Given the description of an element on the screen output the (x, y) to click on. 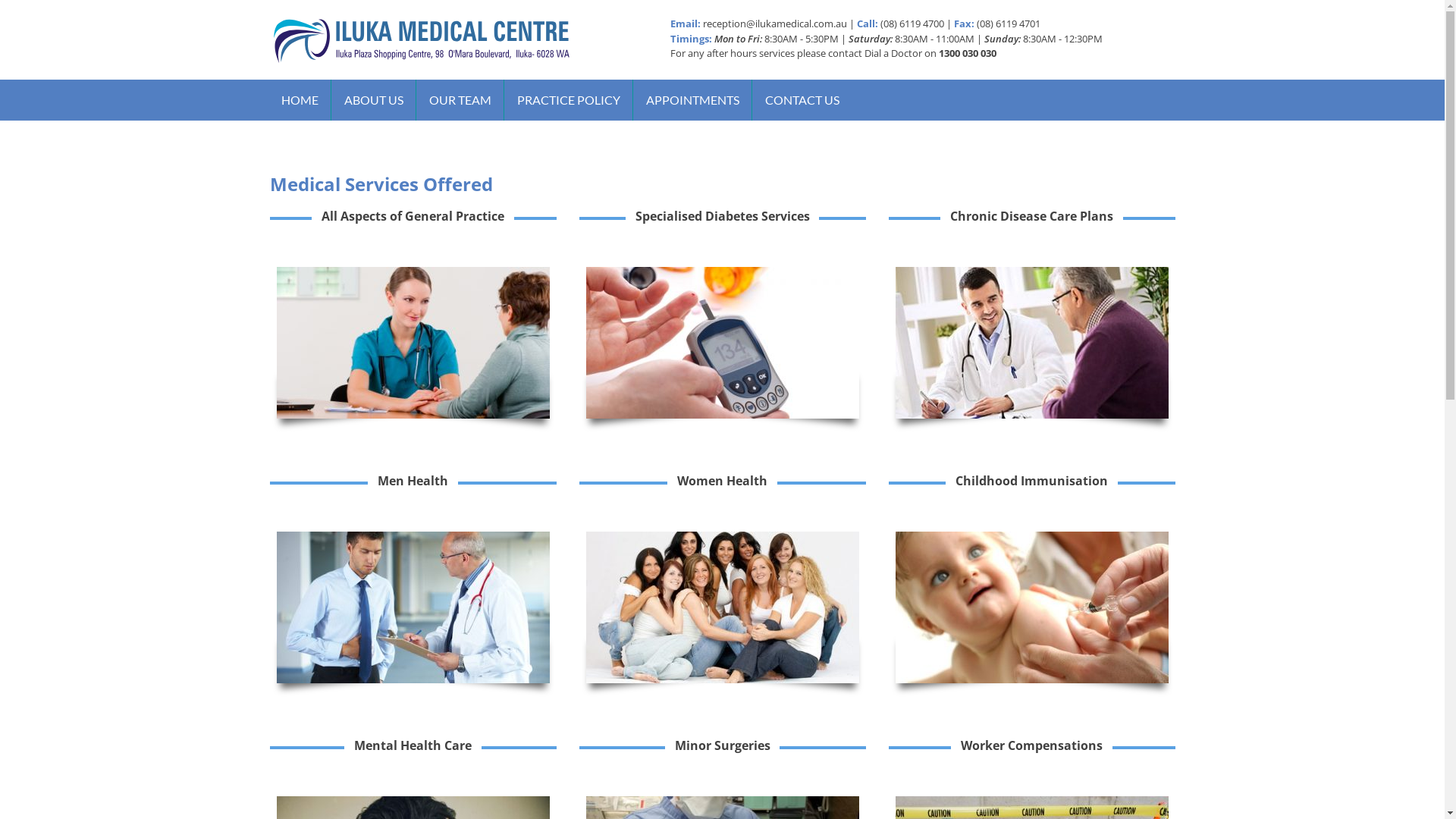
ABOUT US Element type: text (373, 99)
CONTACT US Element type: text (801, 99)
OUR TEAM Element type: text (459, 99)
general-medical-practice Element type: hover (412, 342)
HOME Element type: text (299, 99)
APPOINTMENTS Element type: text (691, 99)
diabetes-practice Element type: hover (721, 342)
men-health-care Element type: hover (412, 607)
ILUKA MEDICAL CENTRE Element type: text (398, 104)
women-health Element type: hover (721, 607)
childhood-immunisation Element type: hover (1030, 607)
chronic-disease-care-plan Element type: hover (1030, 342)
PRACTICE POLICY Element type: text (567, 99)
